Given the description of an element on the screen output the (x, y) to click on. 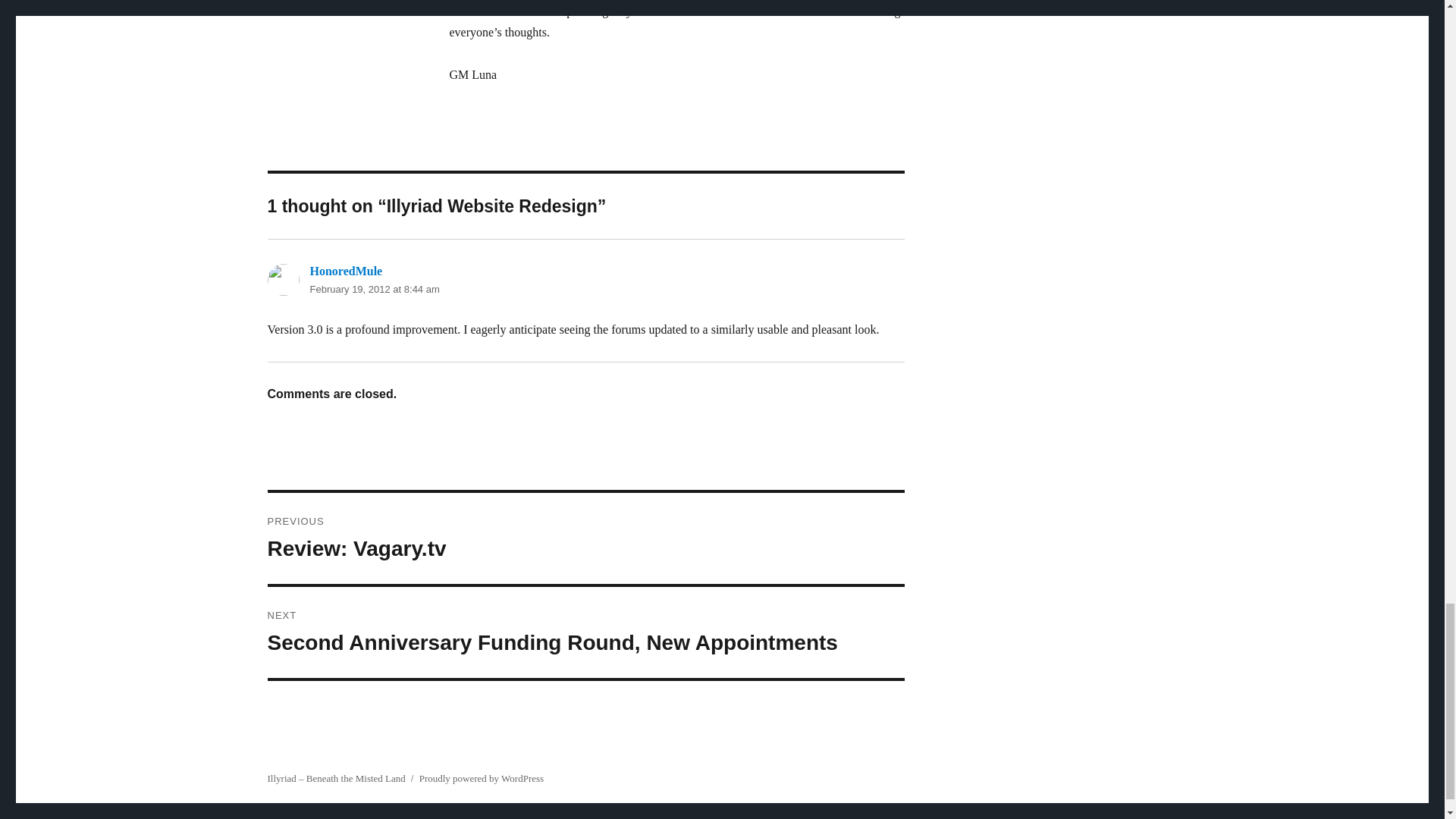
February 19, 2012 at 8:44 am (373, 288)
HonoredMule (585, 538)
